Given the description of an element on the screen output the (x, y) to click on. 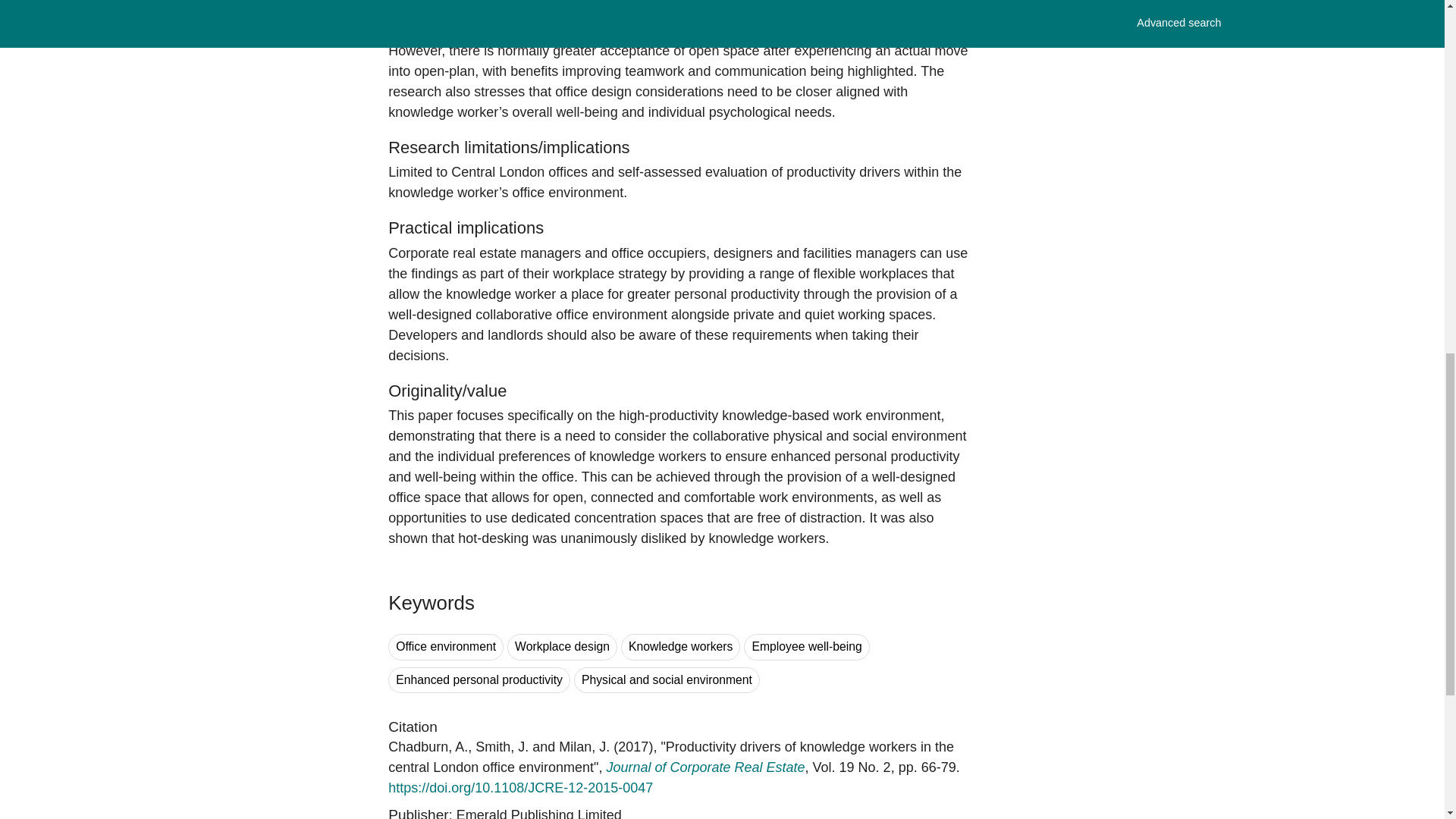
Judy Smith (502, 746)
Search for keyword Physical and social environment (666, 680)
Chadburn, A. (427, 746)
Office environment (445, 646)
Milan, J. (584, 746)
Physical and social environment (666, 680)
Search for keyword Enhanced personal productivity (479, 680)
Search for keyword Office environment (445, 646)
Search for keyword Employee well-being (806, 646)
Joshua Milan (584, 746)
